Given the description of an element on the screen output the (x, y) to click on. 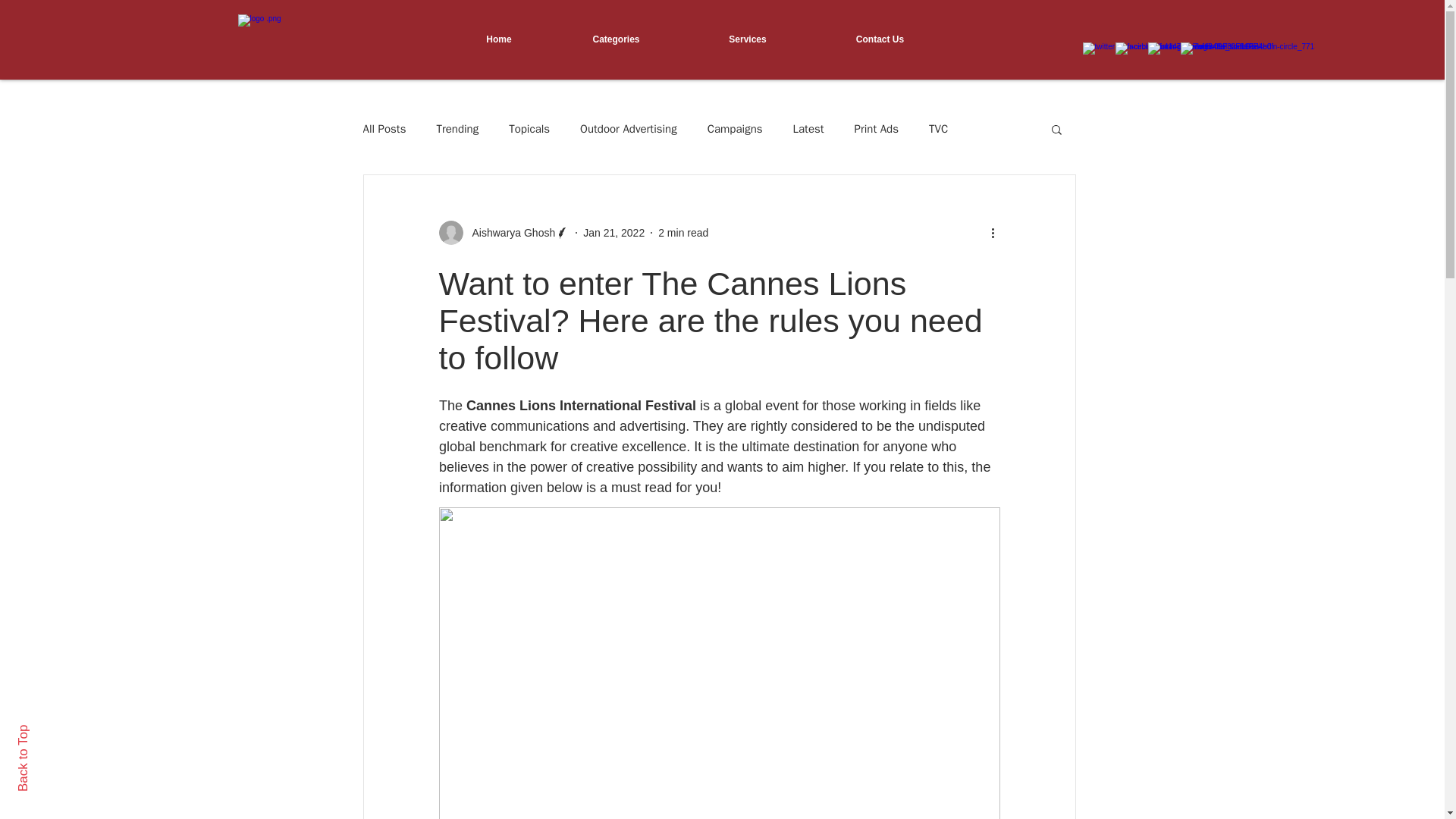
Print Ads (876, 128)
Categories (616, 39)
Aishwarya Ghosh (508, 232)
Jan 21, 2022 (614, 232)
Services (748, 39)
All Posts (384, 128)
Campaigns (734, 128)
Contact Us (879, 39)
Topicals (529, 128)
2 min read (682, 232)
